Given the description of an element on the screen output the (x, y) to click on. 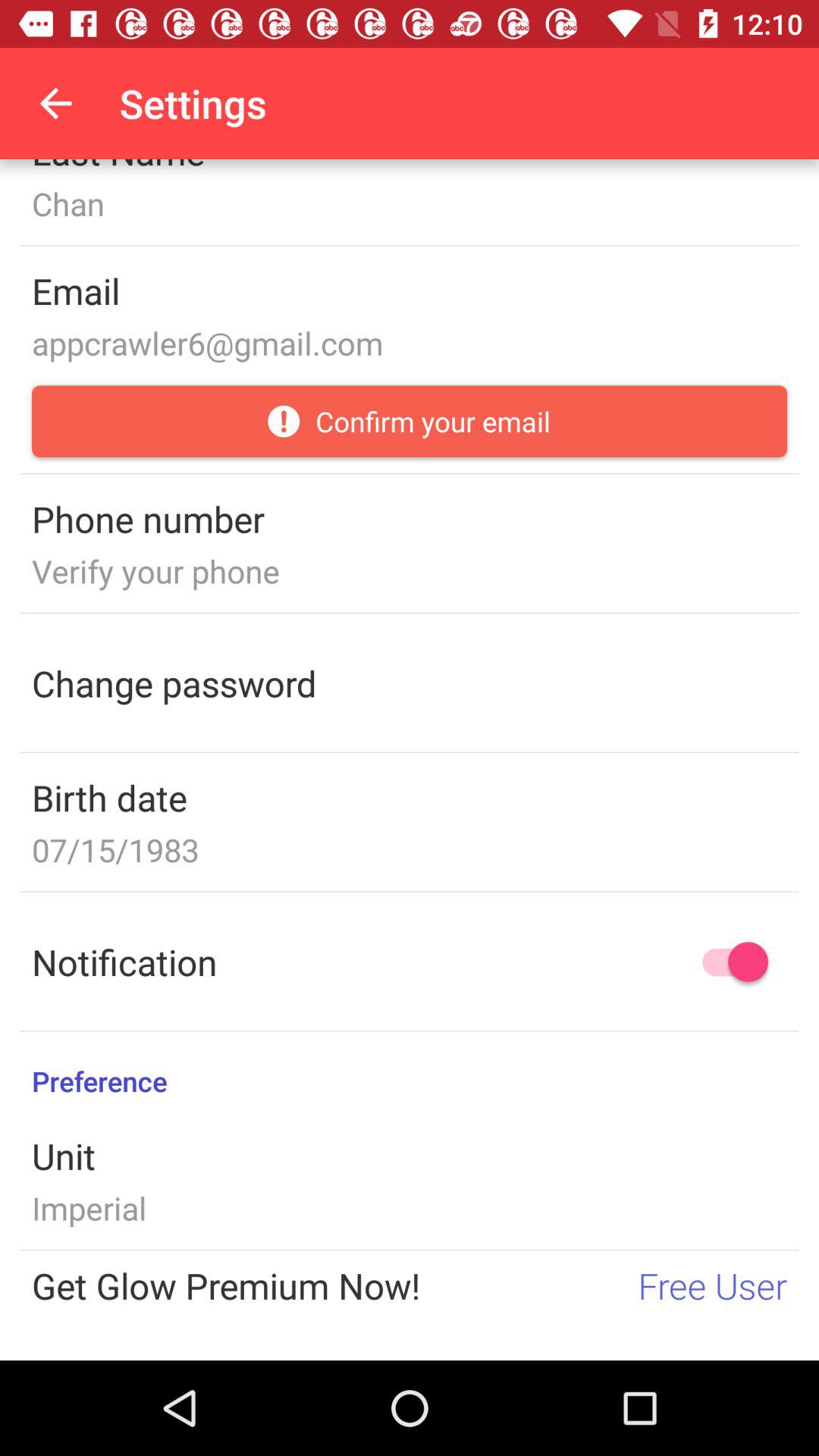
turn on the icon above last name icon (55, 103)
